Given the description of an element on the screen output the (x, y) to click on. 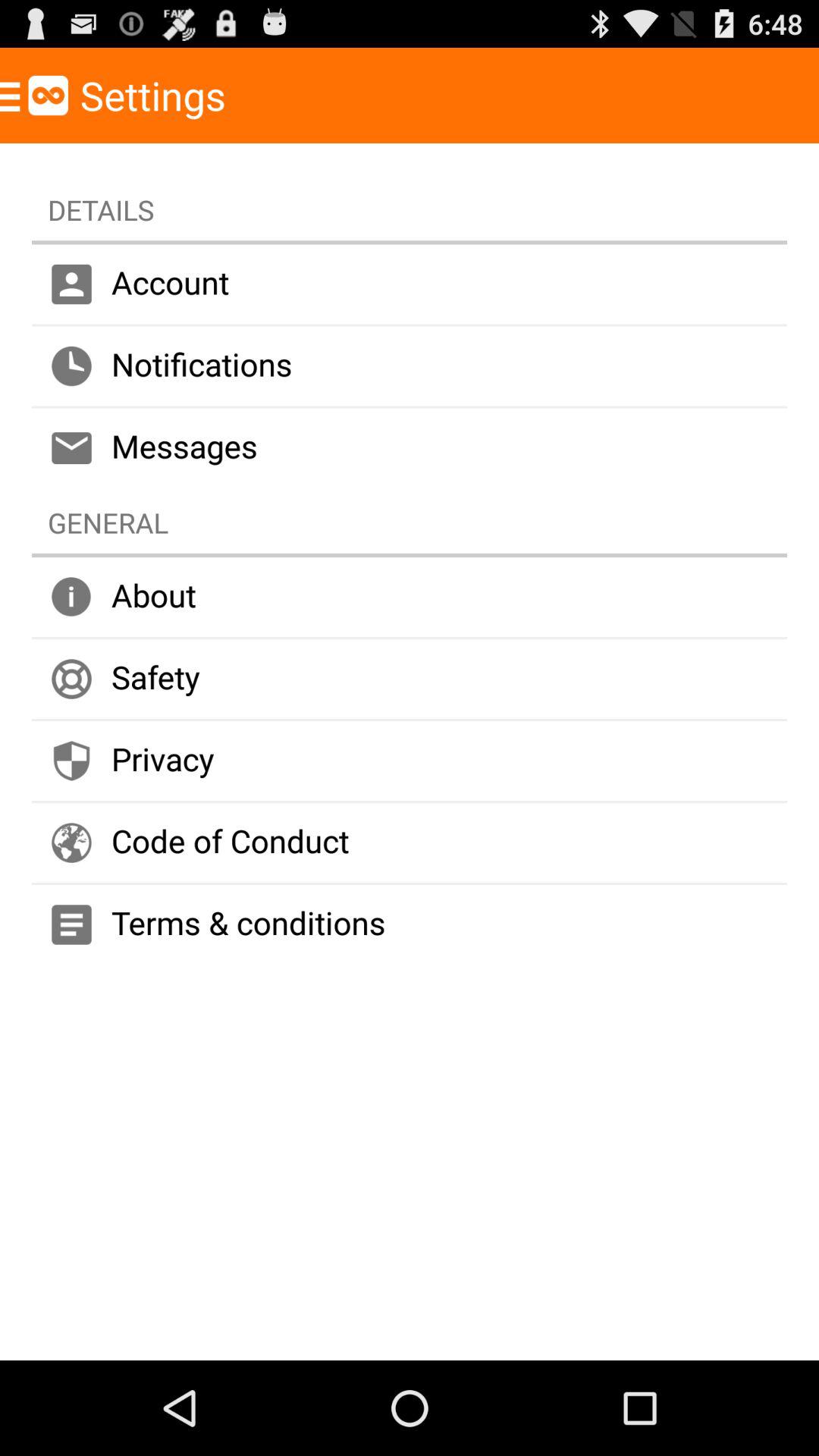
turn on the notifications item (409, 366)
